Given the description of an element on the screen output the (x, y) to click on. 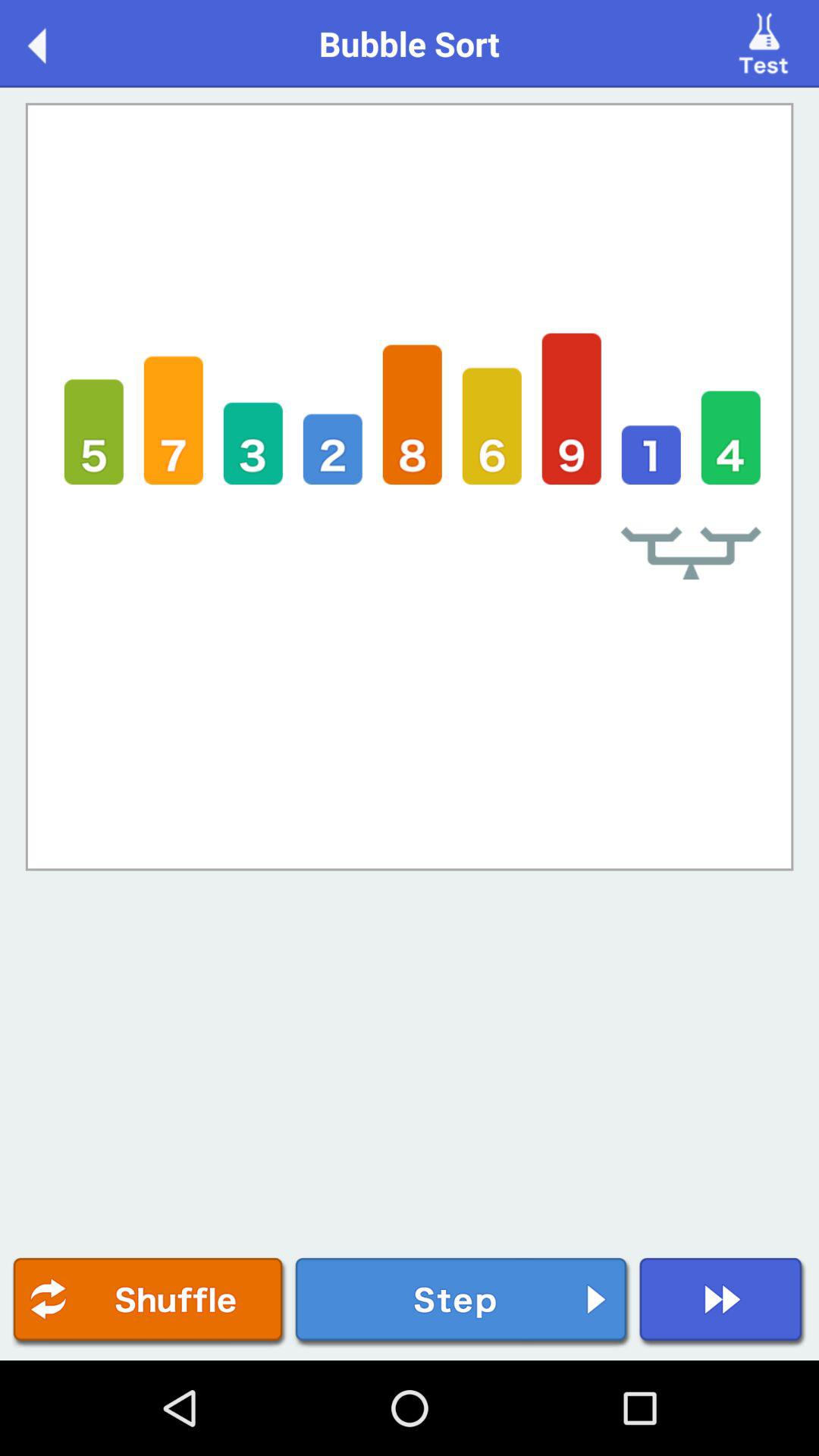
fast forward (722, 1302)
